Given the description of an element on the screen output the (x, y) to click on. 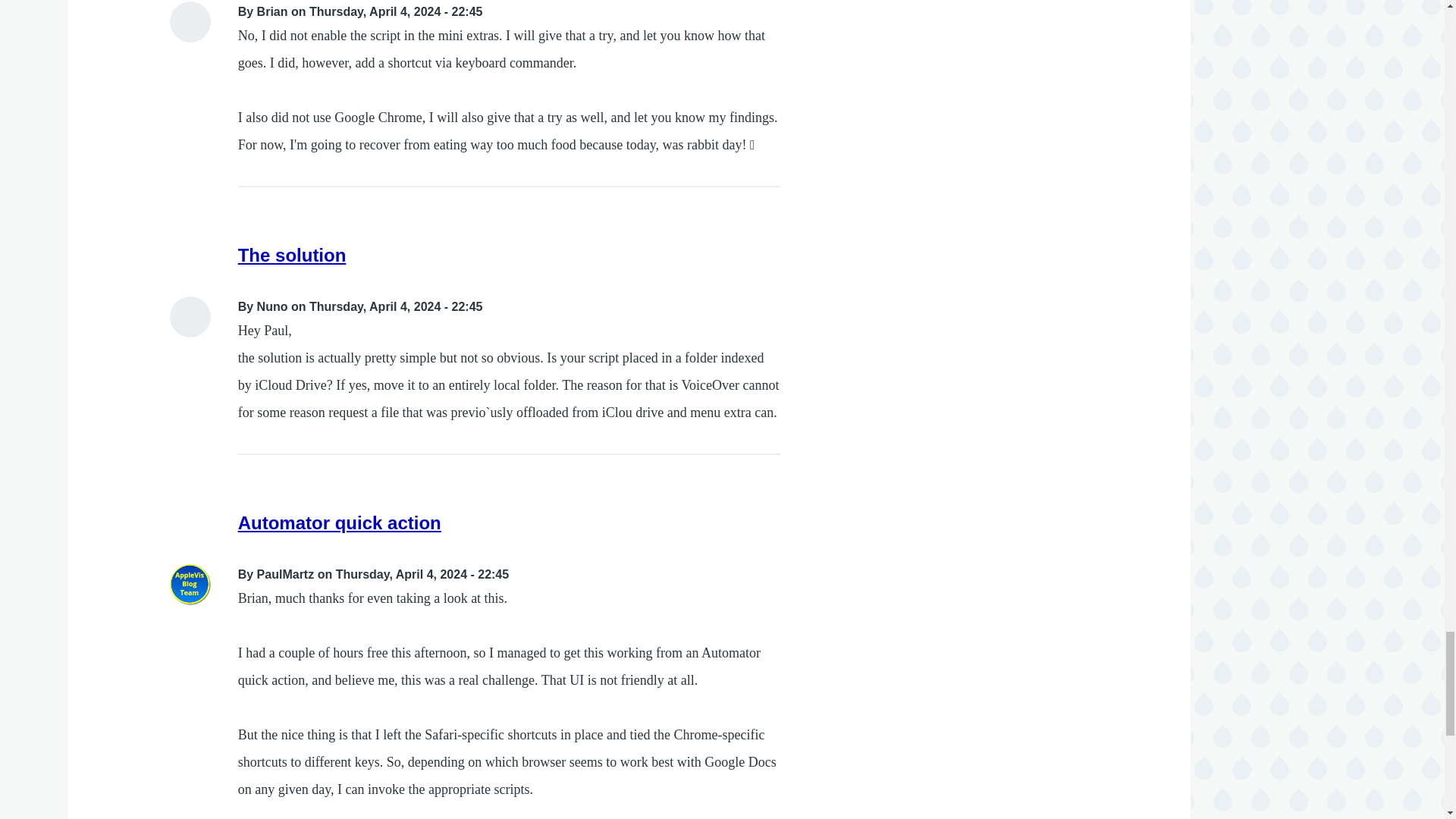
The solution (292, 254)
Automator quick action (339, 522)
